Given the description of an element on the screen output the (x, y) to click on. 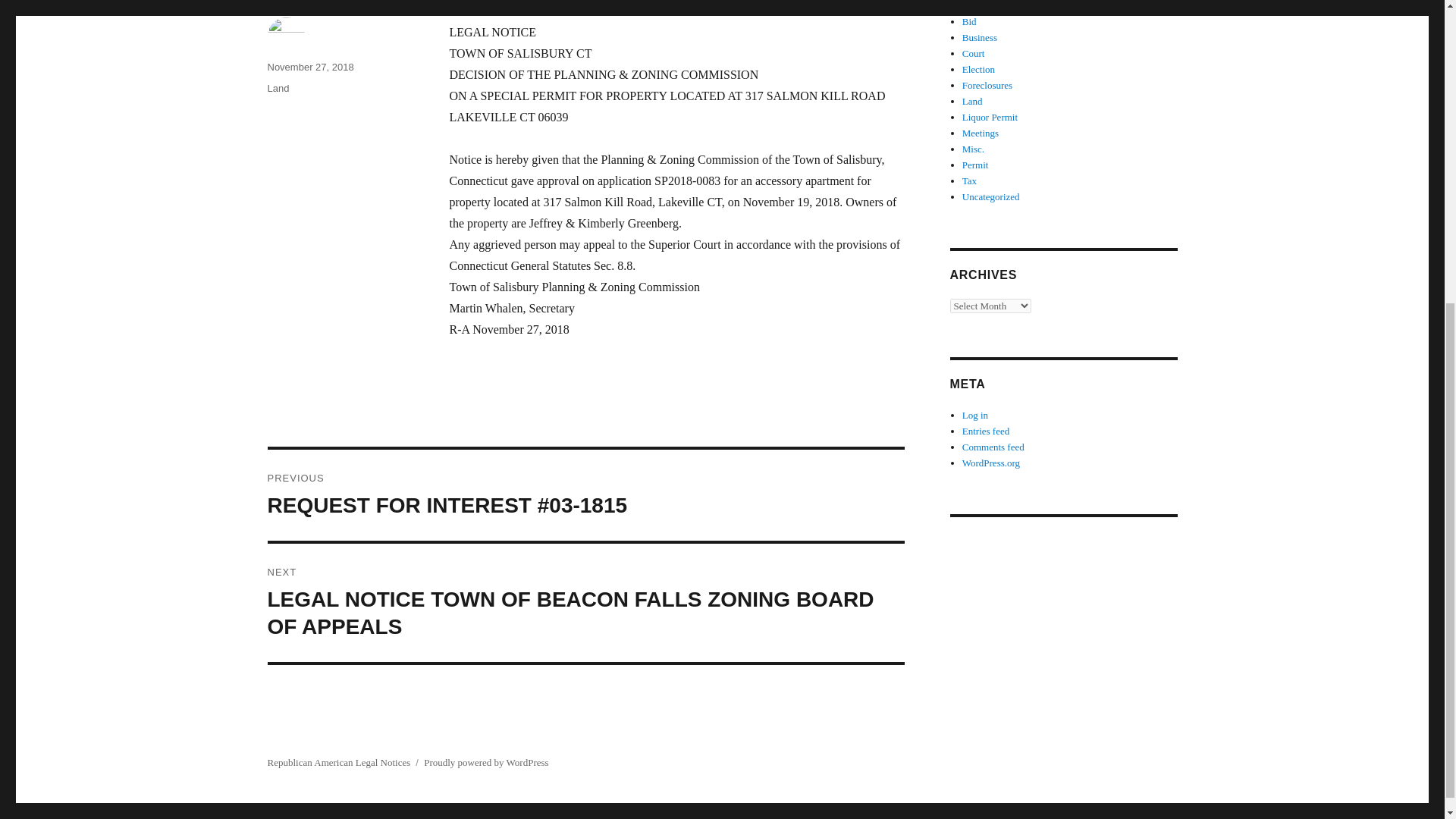
Log in (975, 414)
Bid (969, 21)
Election (978, 69)
Auction (978, 5)
WordPress.org (991, 462)
Meetings (980, 132)
Tax (969, 180)
Proudly powered by WordPress (485, 762)
Uncategorized (991, 196)
November 27, 2018 (309, 66)
Republican American Legal Notices (338, 762)
Land (972, 101)
Permit (975, 164)
Court (973, 52)
